Given the description of an element on the screen output the (x, y) to click on. 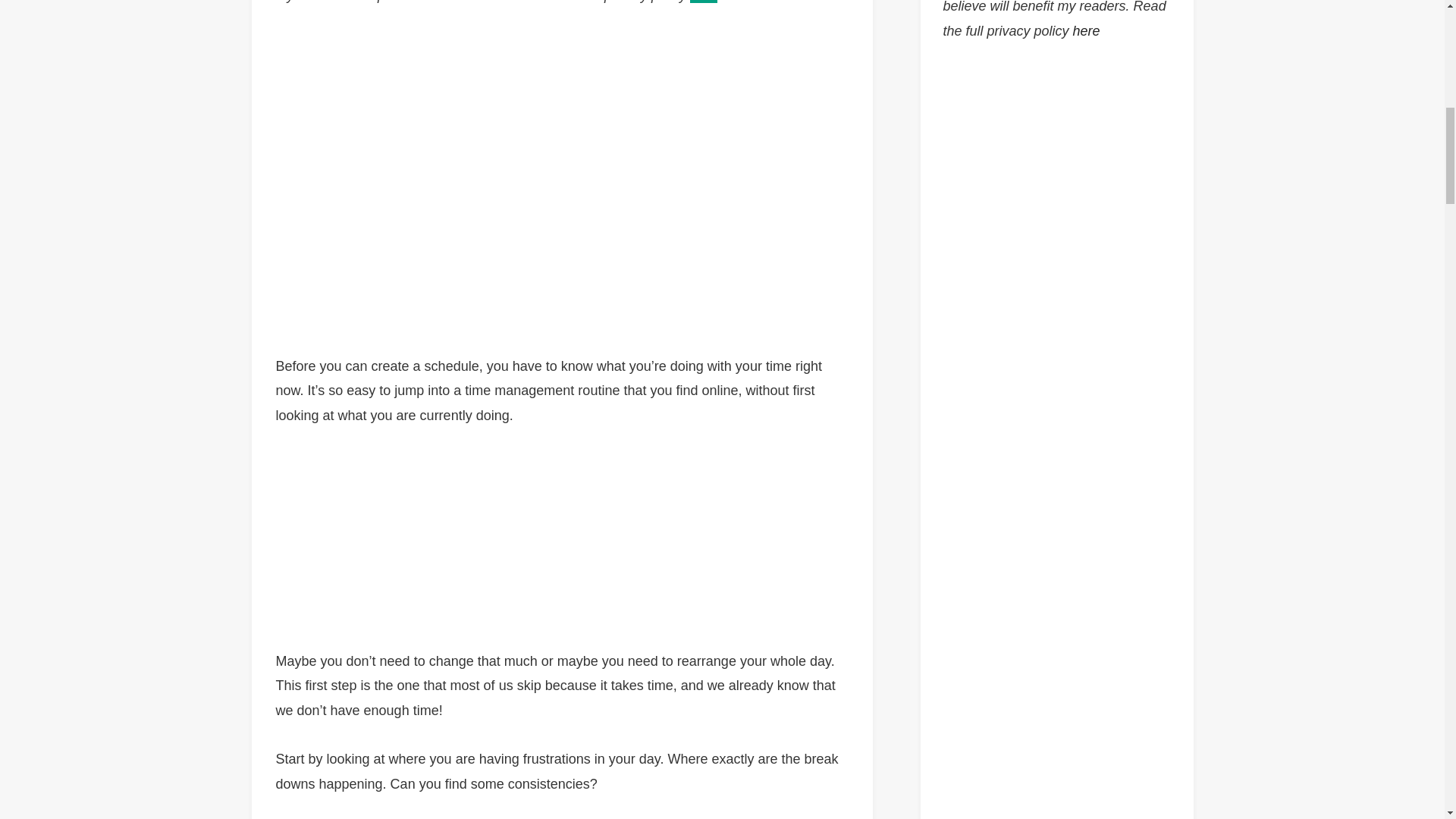
here (1086, 30)
here (703, 1)
